Given the description of an element on the screen output the (x, y) to click on. 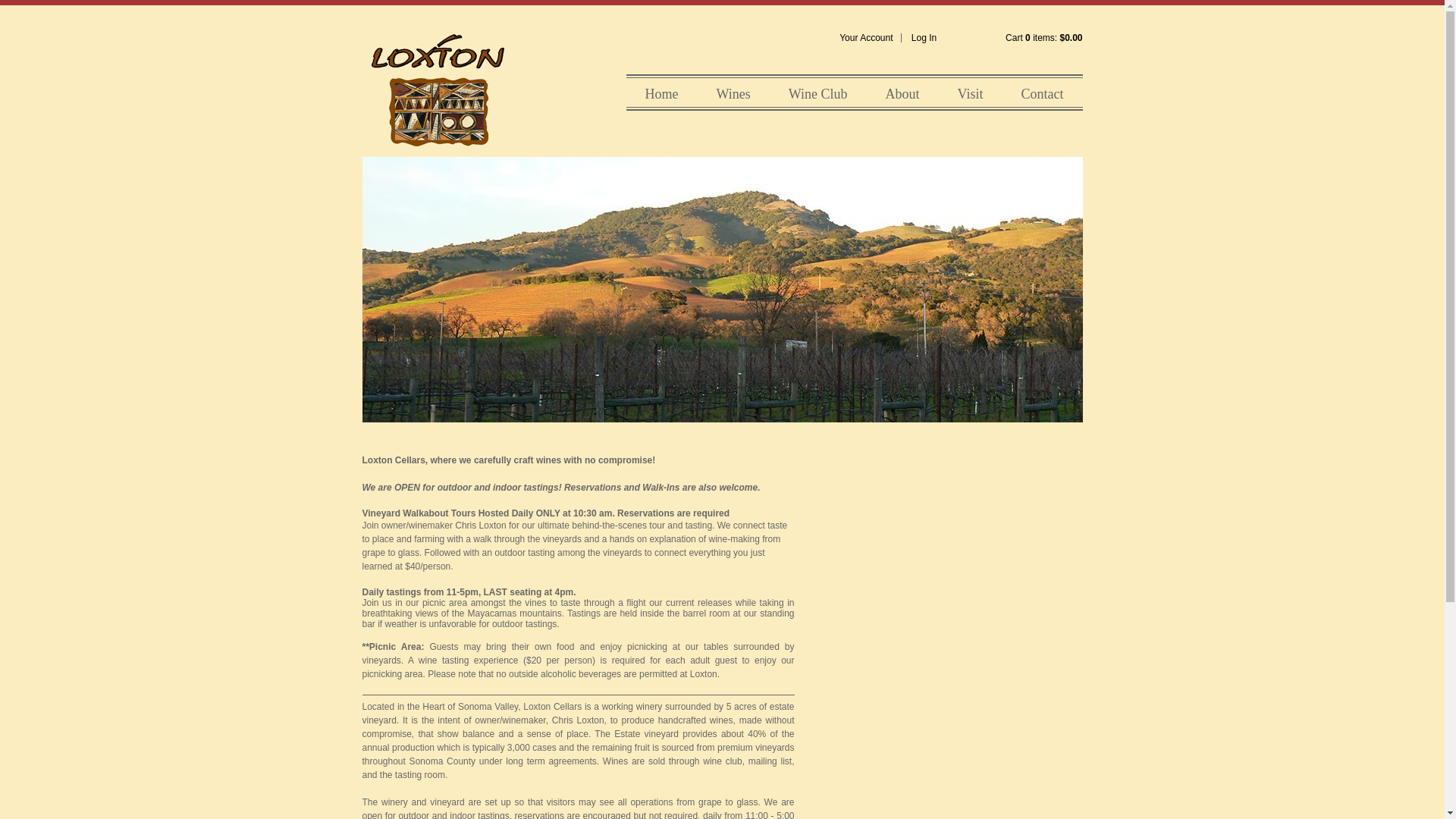
About (902, 93)
Log In (923, 37)
Your Account (866, 37)
Home (661, 93)
Wine Club (818, 93)
Wines (733, 93)
Contact (1041, 93)
